Given the description of an element on the screen output the (x, y) to click on. 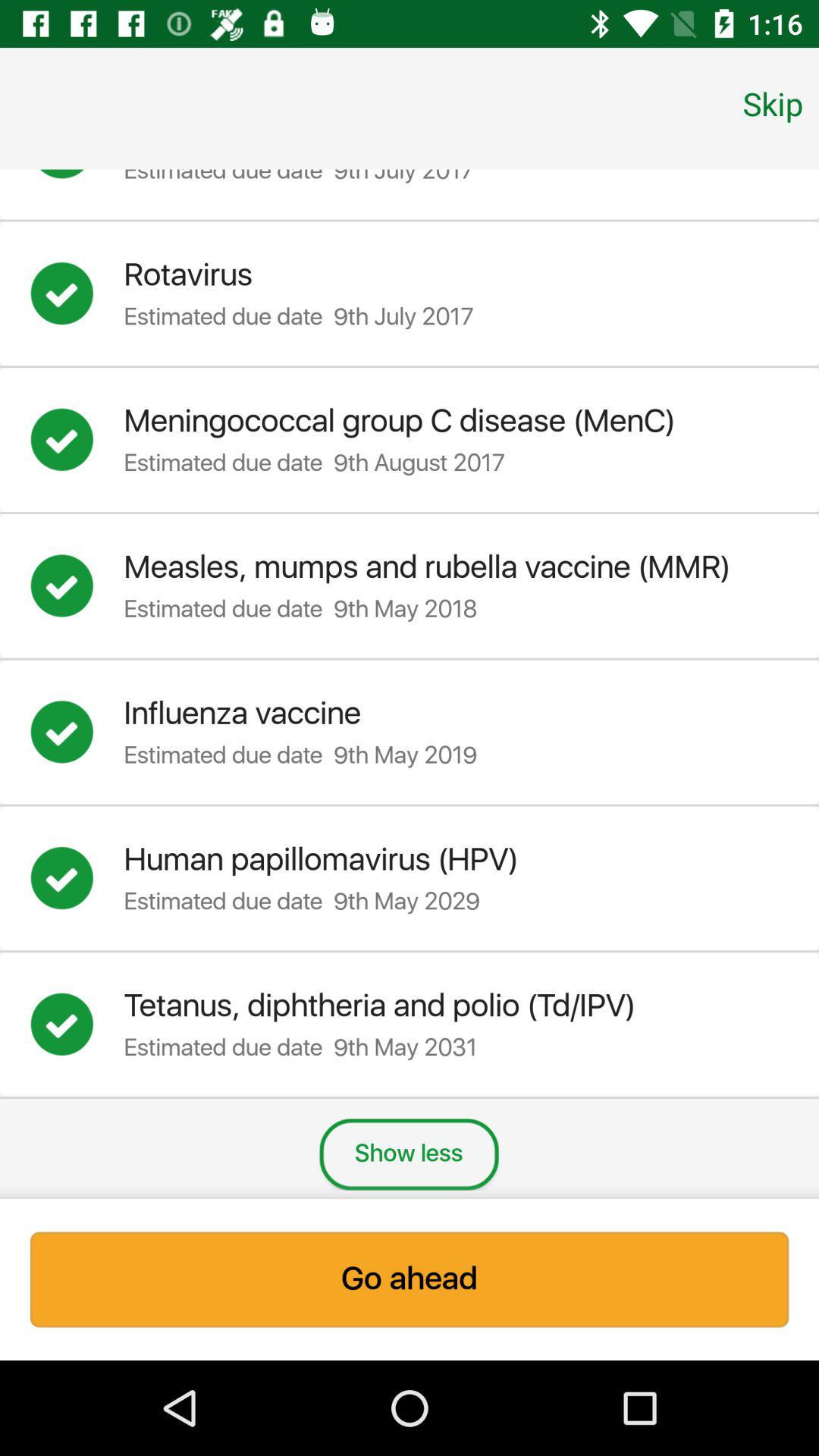
confirmation button (76, 585)
